Given the description of an element on the screen output the (x, y) to click on. 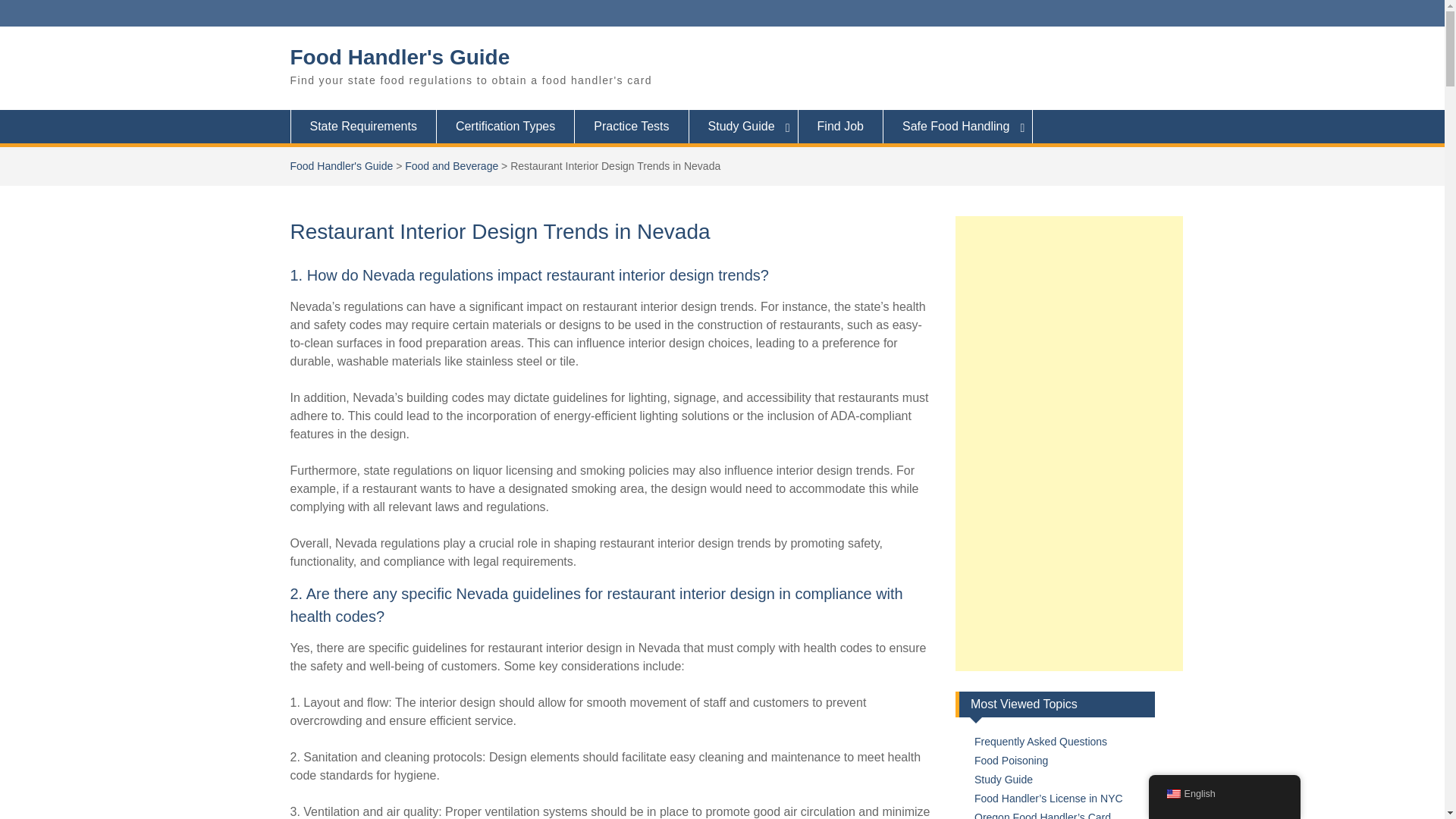
Practice Tests (631, 126)
Frequently Asked Questions (1040, 741)
Food and Beverage (450, 165)
Food Handler's Guide (341, 165)
State Requirements (362, 126)
Study Guide (1003, 779)
Certification Types (505, 126)
Food Poisoning (1011, 760)
Find Job (840, 126)
Safe Food Handling (957, 126)
Study Guide (742, 126)
Food Handler's Guide (399, 56)
English (1172, 793)
